Given the description of an element on the screen output the (x, y) to click on. 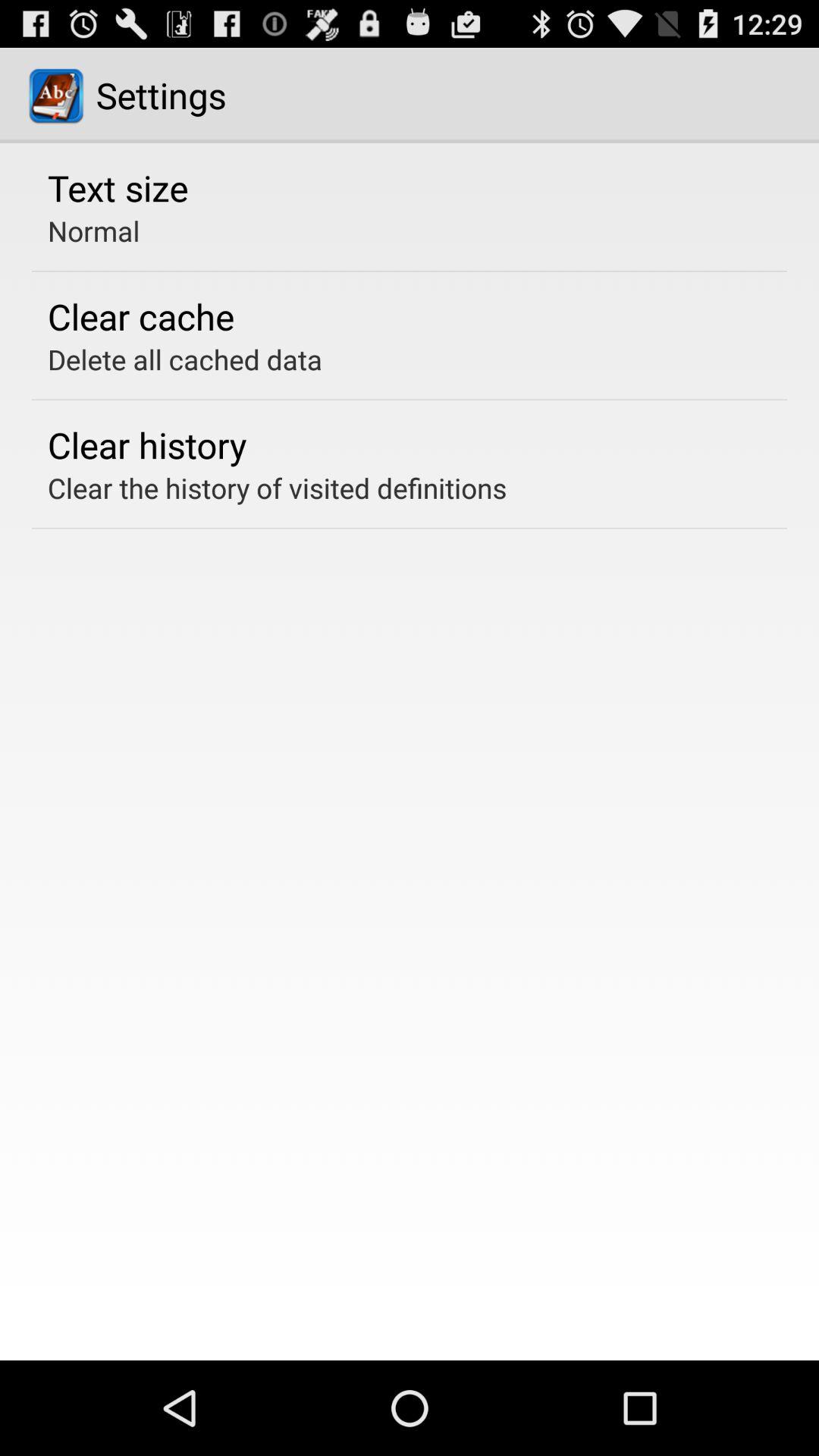
tap the app above delete all cached icon (140, 316)
